Given the description of an element on the screen output the (x, y) to click on. 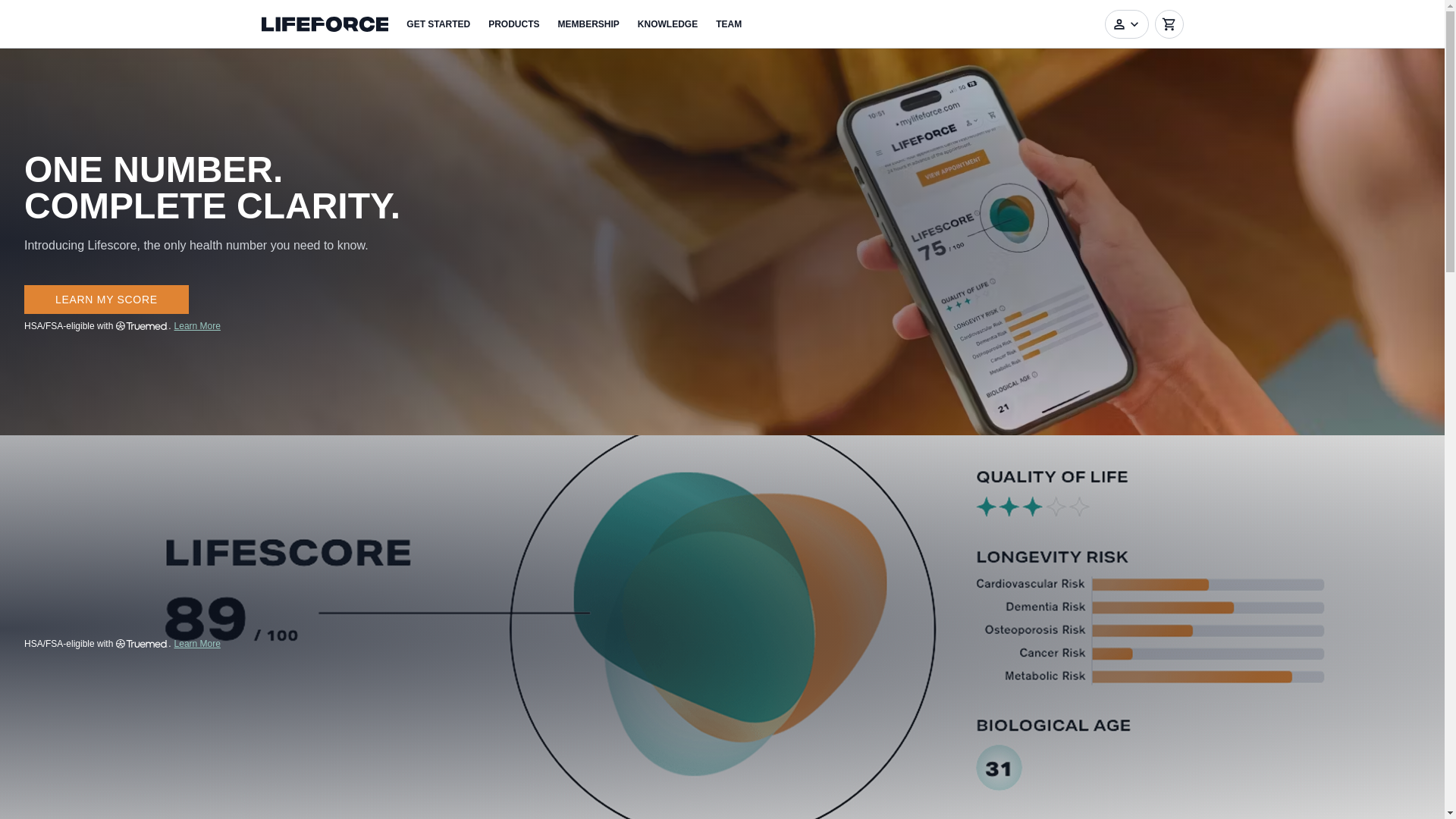
PRODUCTS (512, 24)
KNOWLEDGE (667, 24)
MEMBERSHIP (587, 24)
LEARN MY SCORE (106, 299)
GET STARTED (438, 24)
Learn More (197, 644)
Learn More (197, 326)
TEAM (728, 24)
